Given the description of an element on the screen output the (x, y) to click on. 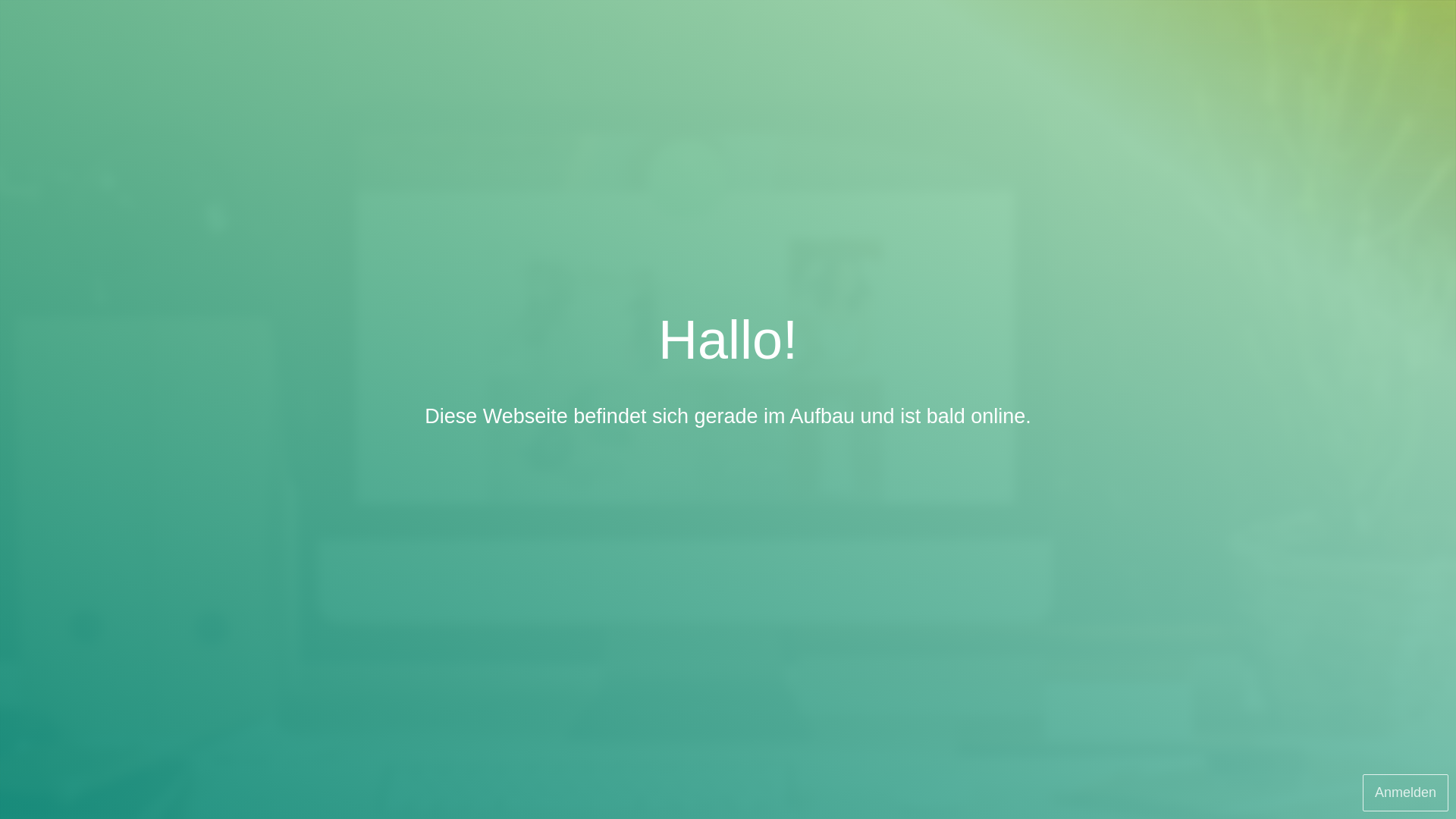
Anmelden Element type: text (1405, 792)
